Given the description of an element on the screen output the (x, y) to click on. 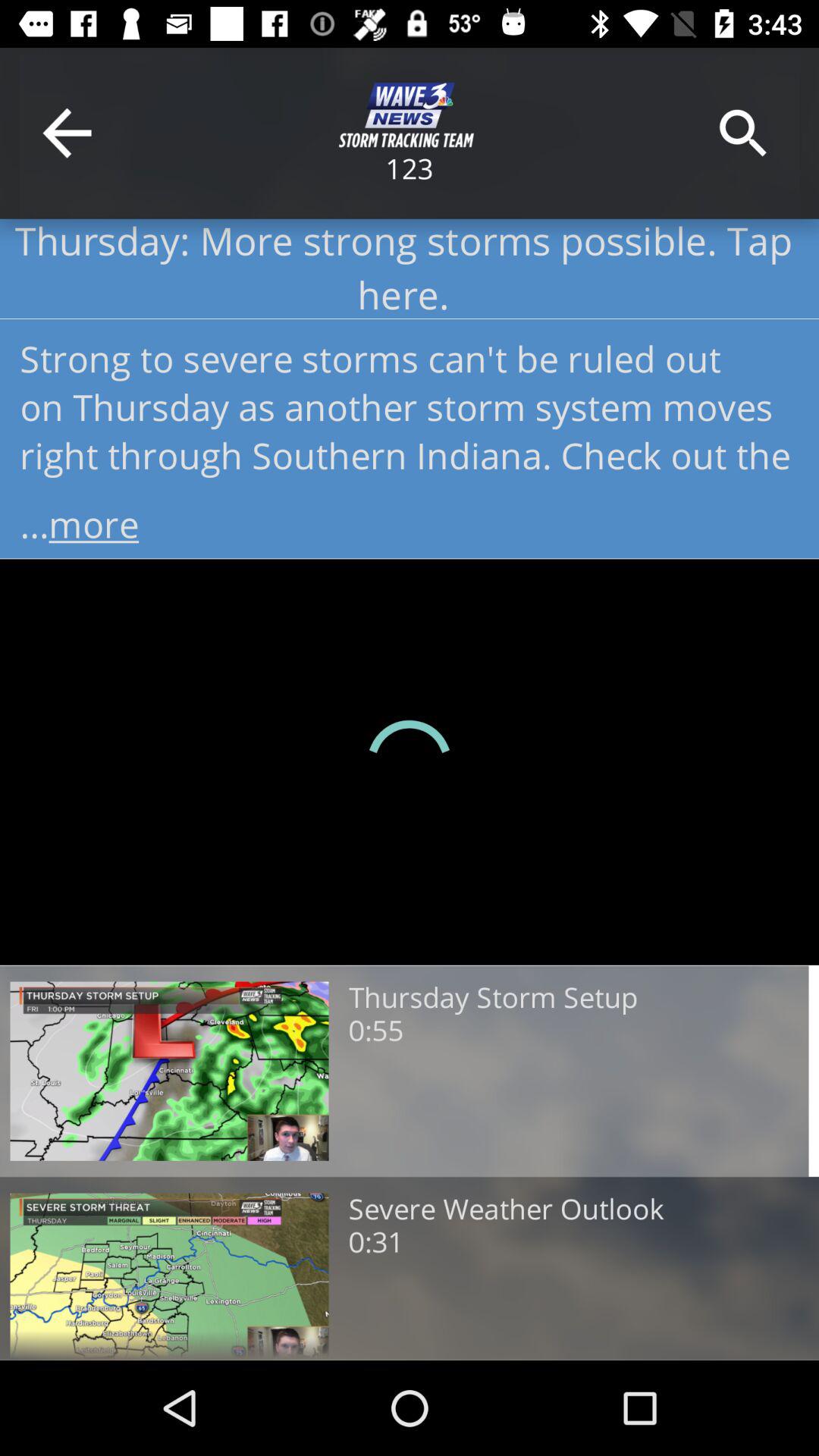
turn off app above 0:31 item (506, 1209)
